Given the description of an element on the screen output the (x, y) to click on. 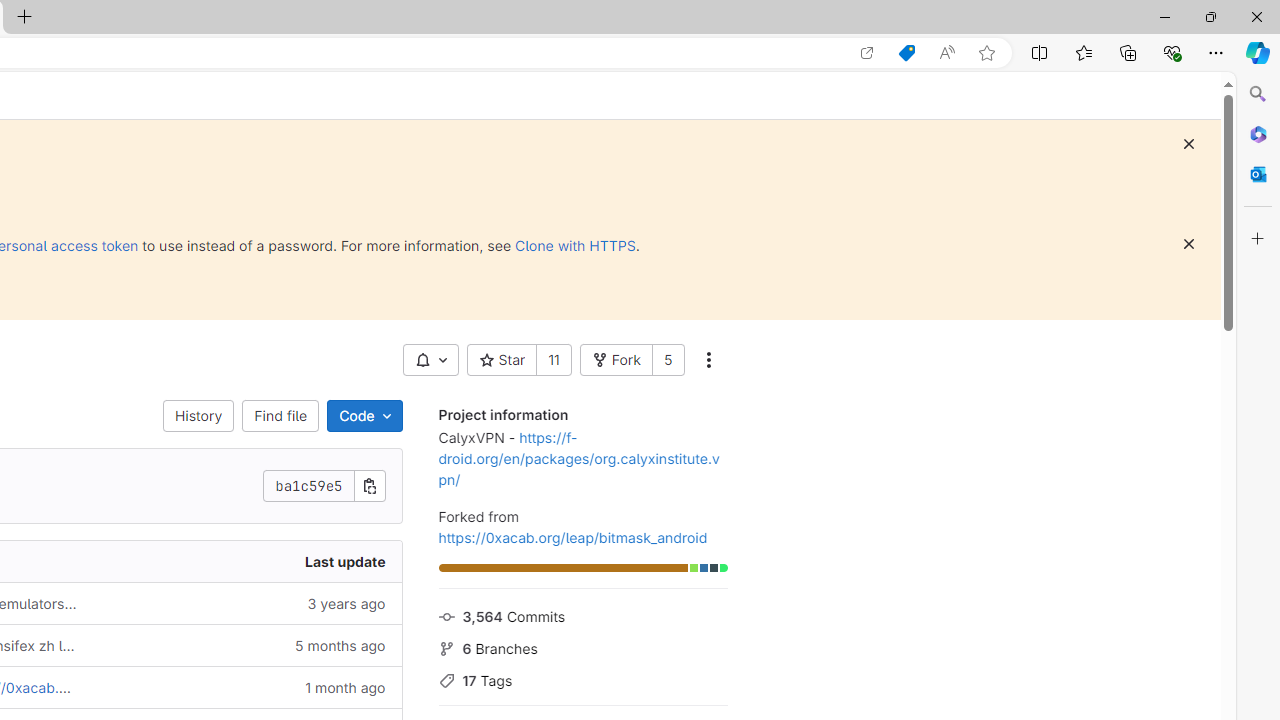
Fork (615, 359)
3,564 Commits (582, 615)
Close Outlook pane (1258, 174)
Shopping in Microsoft Edge (906, 53)
Class: s16 icon gl-mr-3 gl-text-gray-500 (445, 681)
AutomationID: __BVID__265__BV_toggle_ (430, 359)
6 Branches (582, 646)
3 years ago (247, 602)
https://0xacab.org/leap/bitmask_android (572, 537)
